Given the description of an element on the screen output the (x, y) to click on. 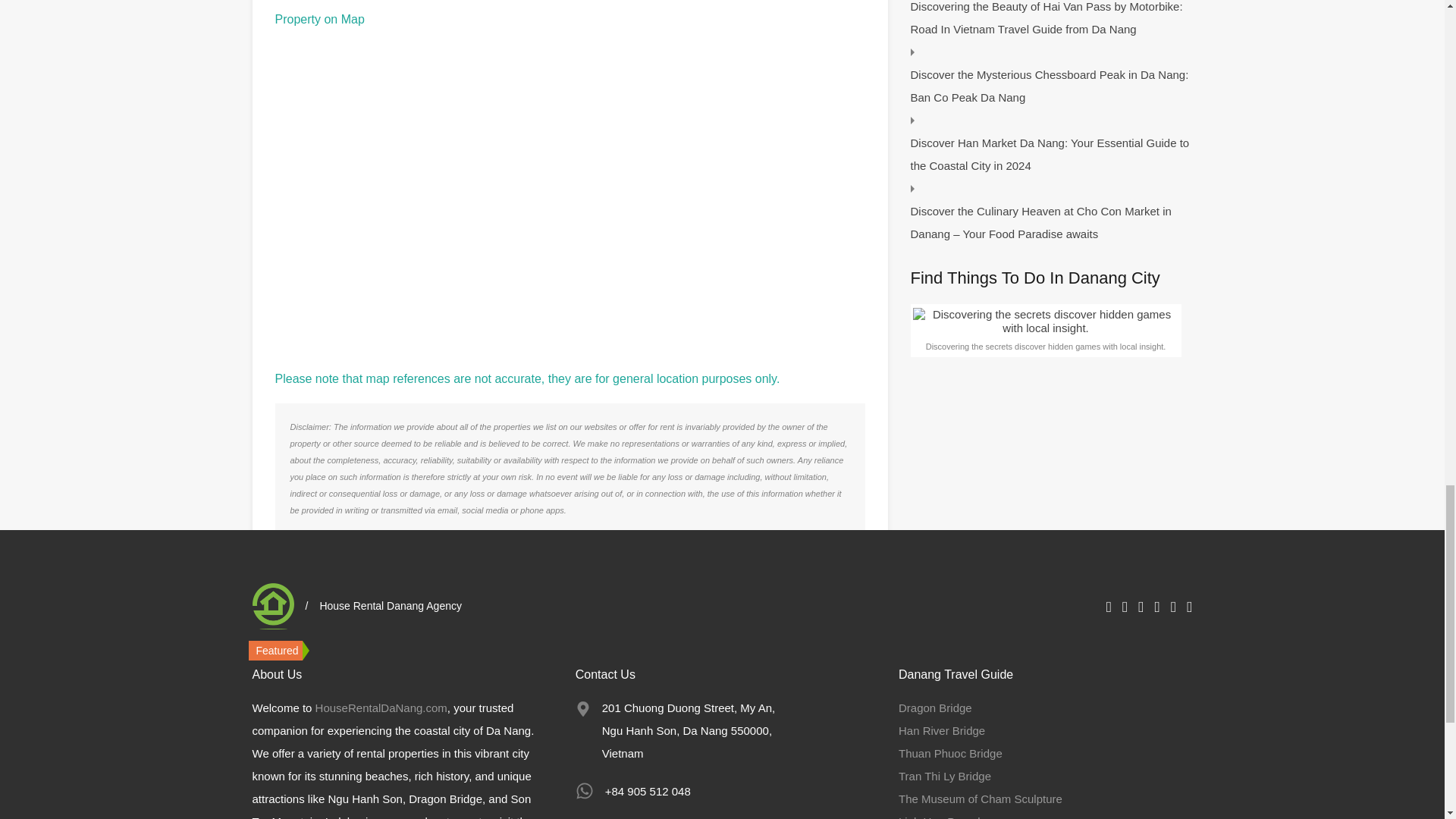
House Rental Danang Agency (272, 606)
Green Apartment For Rent in Danang (403, 734)
Beautiful Garden House For Rent In My An (735, 734)
